Given the description of an element on the screen output the (x, y) to click on. 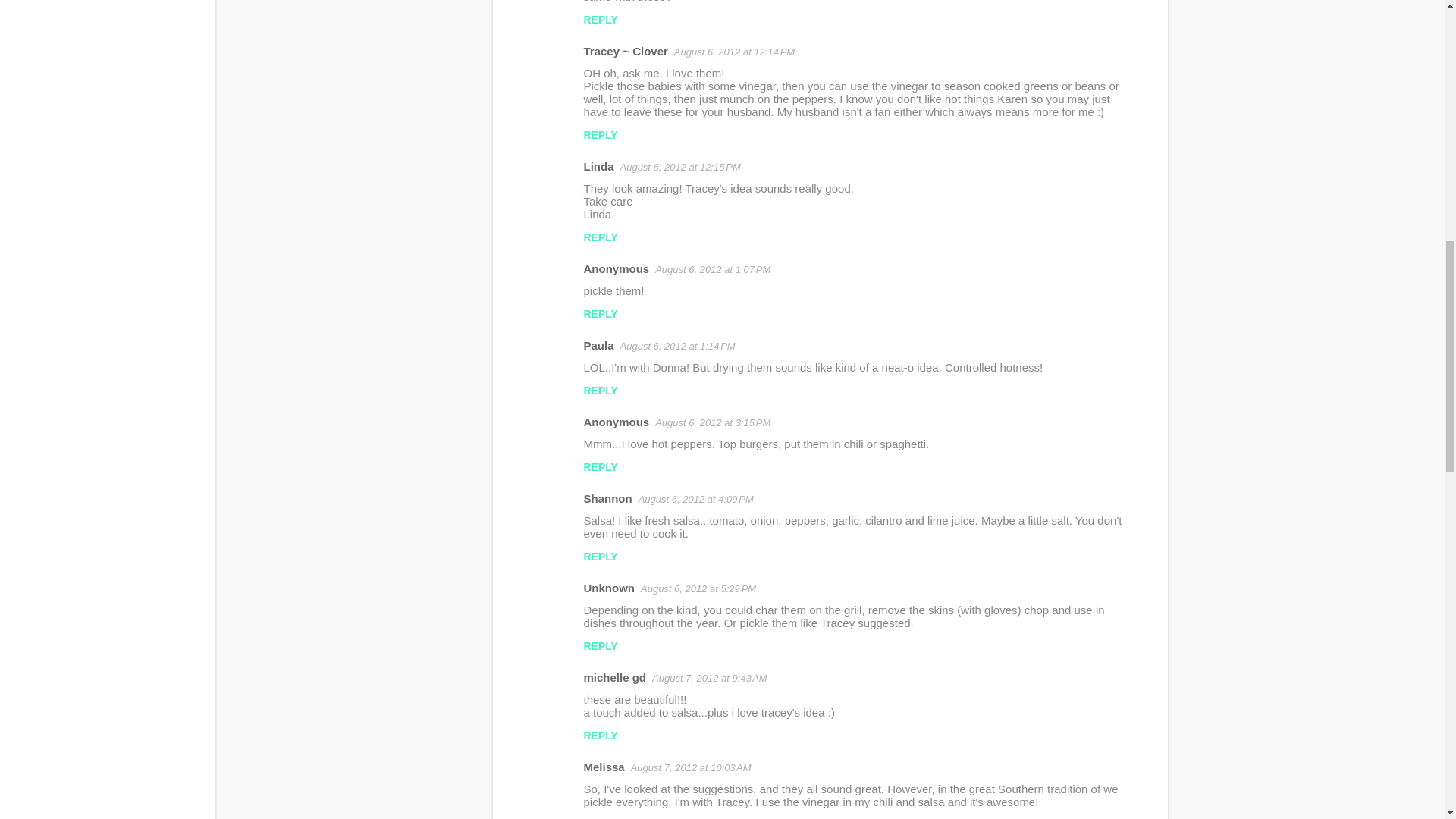
Linda (598, 165)
REPLY (600, 19)
REPLY (600, 313)
REPLY (600, 134)
REPLY (600, 236)
